Given the description of an element on the screen output the (x, y) to click on. 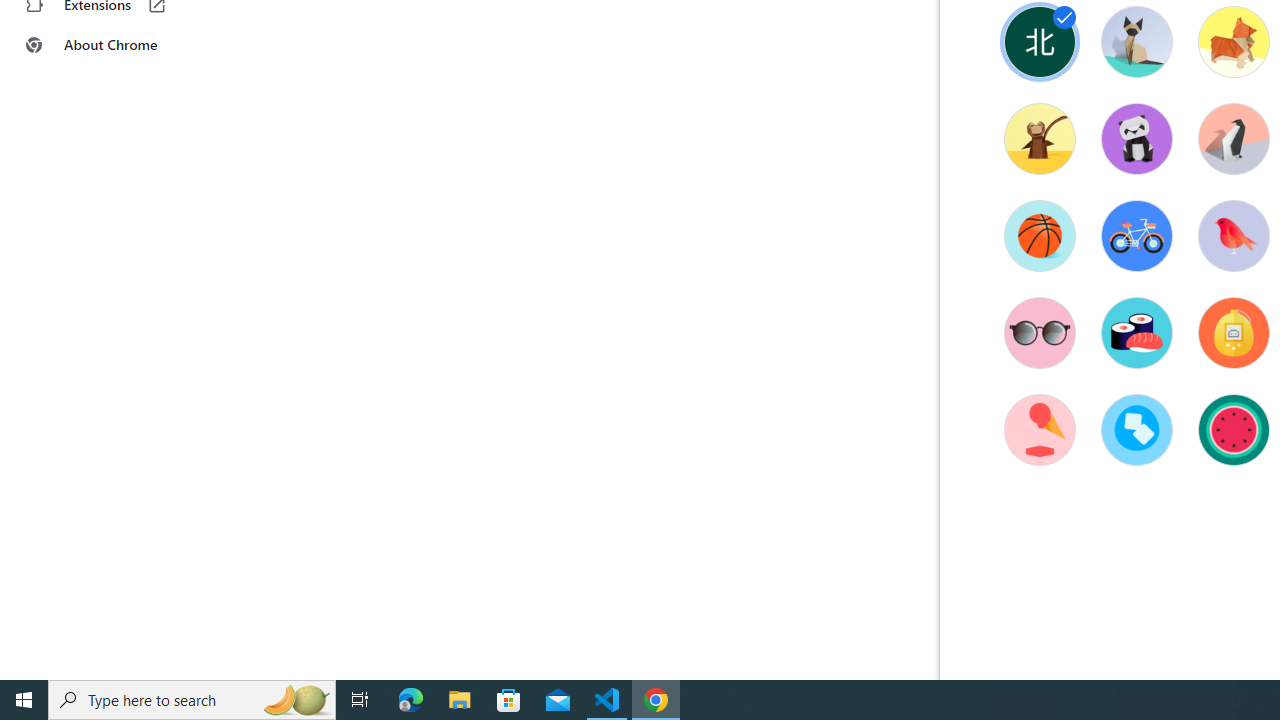
About Chrome (124, 44)
